Given the description of an element on the screen output the (x, y) to click on. 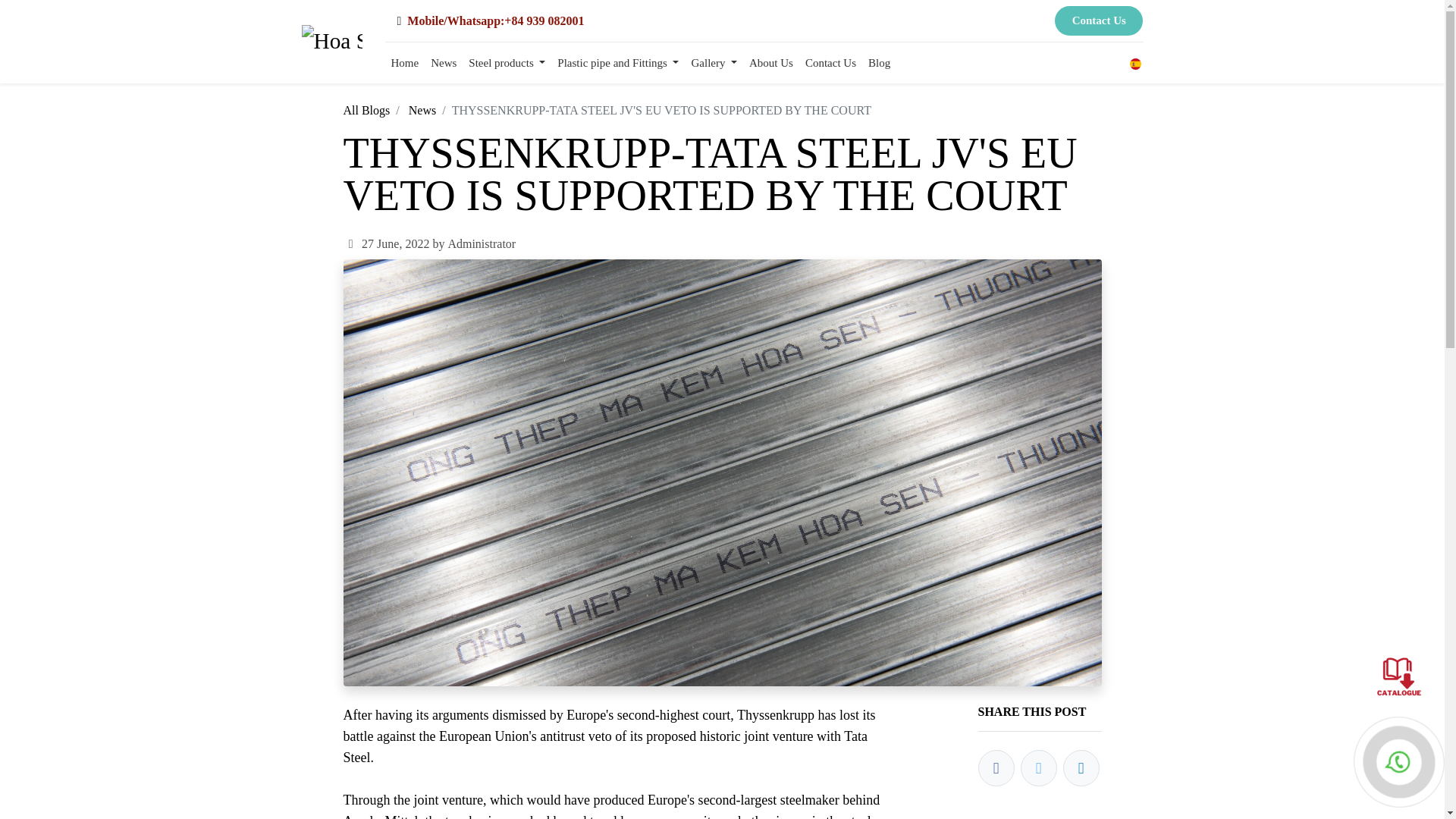
News (422, 110)
Share on Facebook (996, 768)
Home (405, 62)
All Blogs (366, 110)
Share on Twitter (1038, 768)
Hoa Sen Group (331, 41)
News (444, 62)
Plastic pipe and Fittings (617, 62)
Share on LinkedIn (1080, 768)
Contact Us (1098, 20)
